Given the description of an element on the screen output the (x, y) to click on. 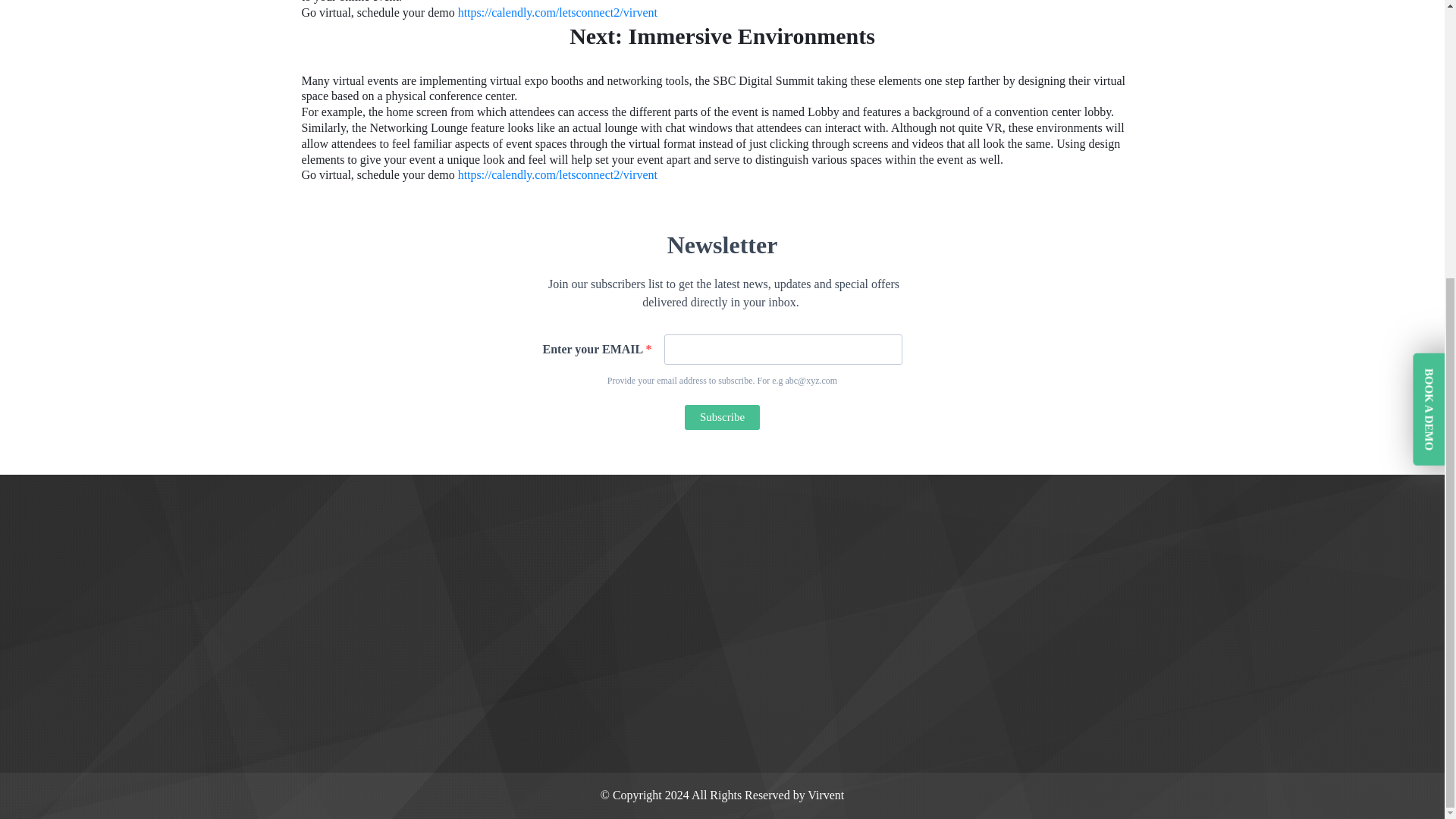
Subscribe (722, 416)
Virvent (826, 794)
